Given the description of an element on the screen output the (x, y) to click on. 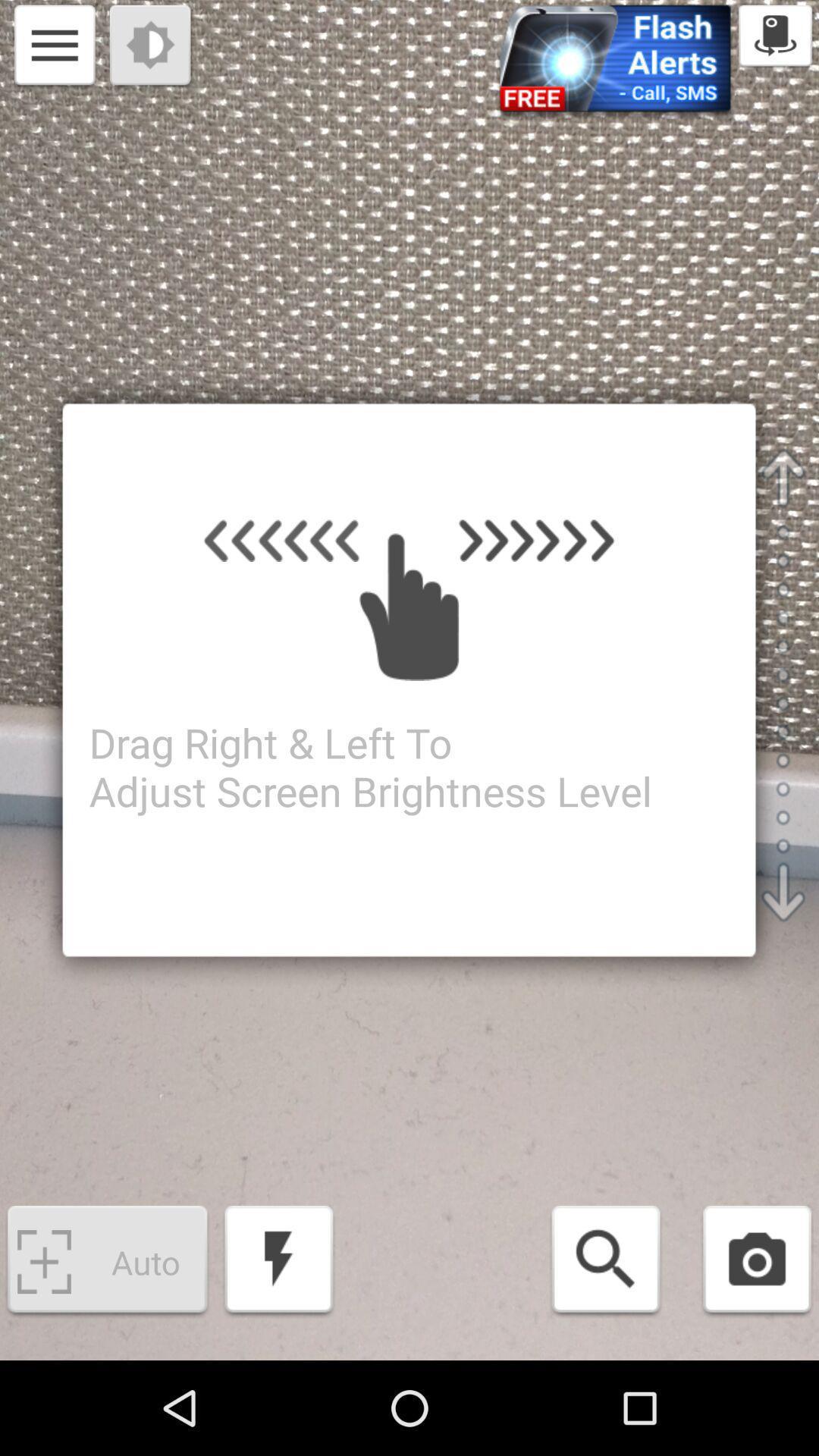
further magnify (605, 1261)
